Given the description of an element on the screen output the (x, y) to click on. 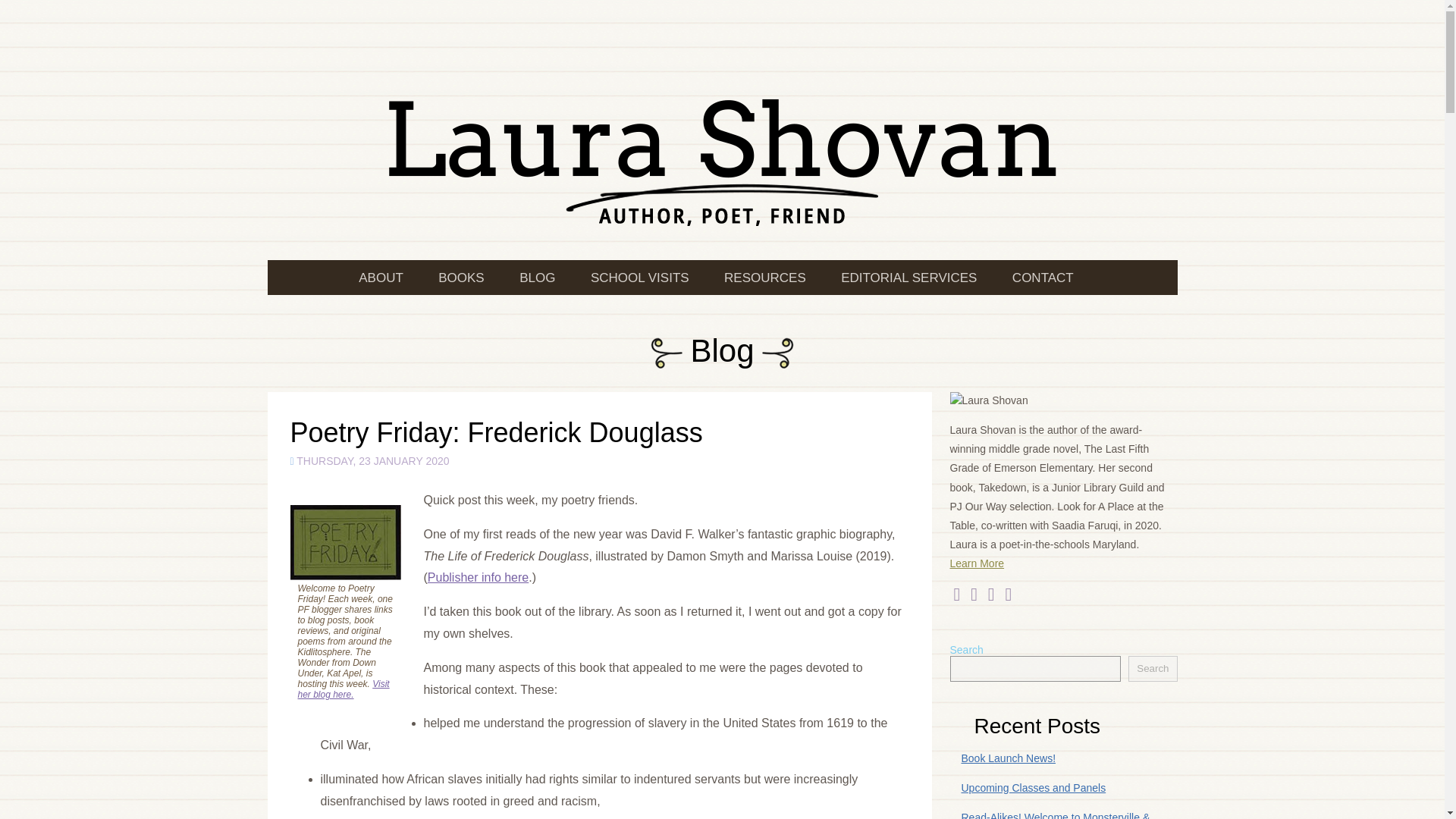
Poetry Friday: Frederick Douglass (495, 431)
CONTACT (1040, 277)
BLOG (534, 277)
BOOKS (459, 277)
SCHOOL VISITS (637, 277)
RESOURCES (762, 277)
ABOUT (388, 277)
Publisher info here (478, 576)
Visit her blog here. (342, 689)
